Given the description of an element on the screen output the (x, y) to click on. 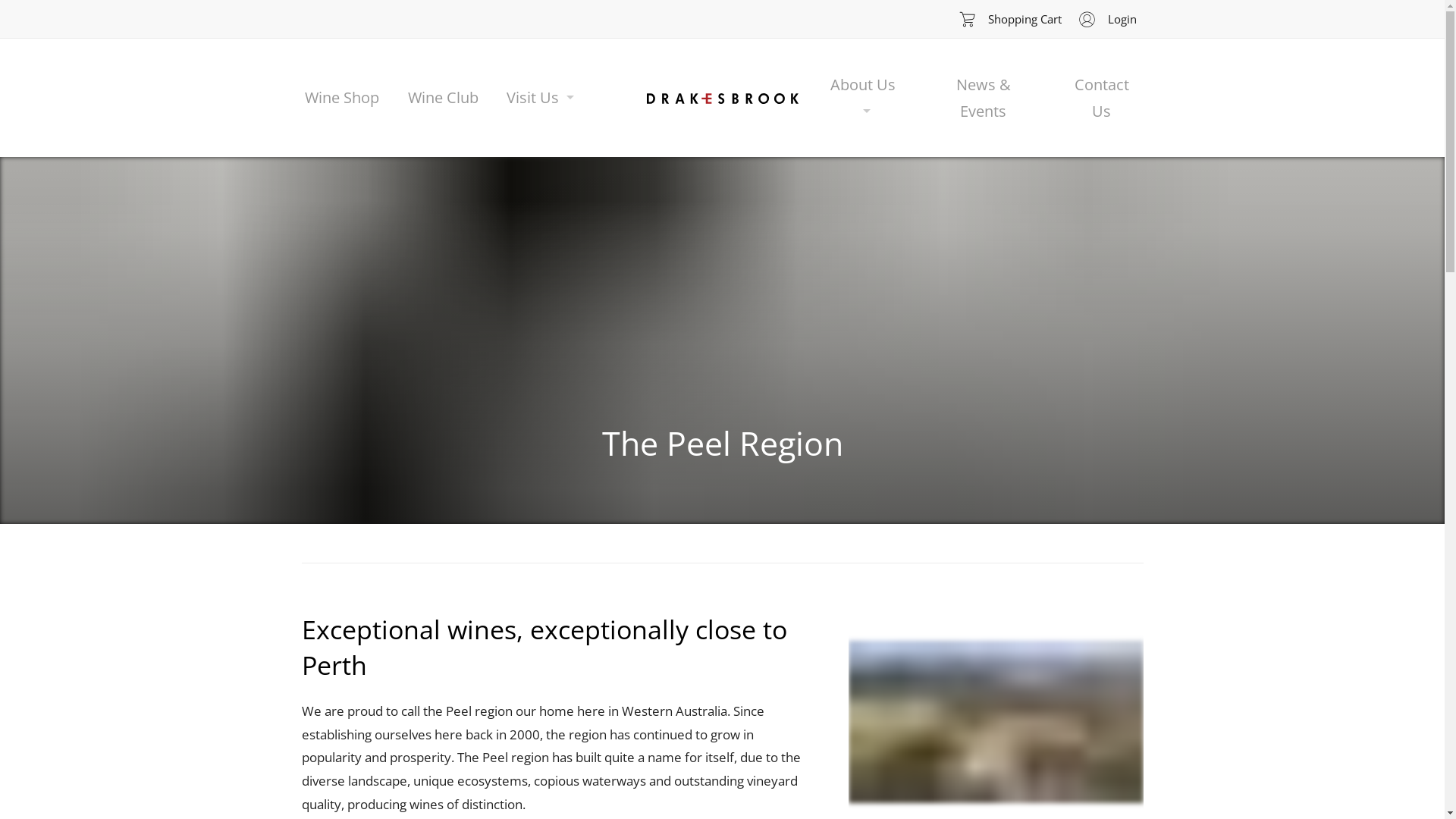
Wine Shop Element type: text (341, 99)
facebook Element type: hover (318, 20)
instagram Element type: hover (411, 20)
twitter Element type: hover (365, 20)
Shopping Cart Element type: text (1007, 20)
About Us Element type: text (863, 99)
Login Element type: text (1104, 20)
Wine Club Element type: text (442, 99)
Contact Us Element type: text (1101, 99)
Visit Us Element type: text (540, 99)
News & Events Element type: text (983, 99)
